Given the description of an element on the screen output the (x, y) to click on. 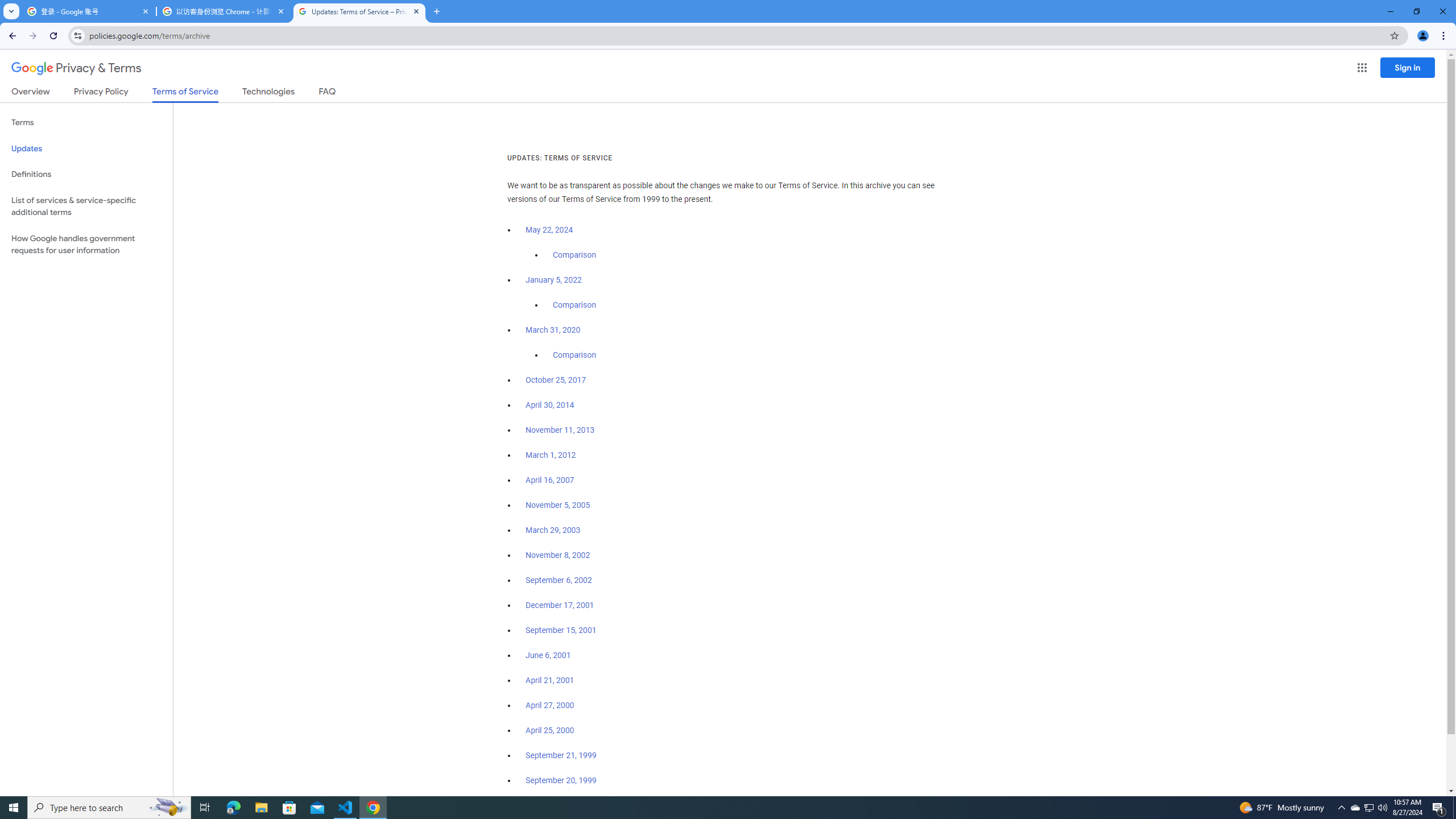
March 31, 2020 (552, 330)
April 21, 2001 (550, 679)
How Google handles government requests for user information (86, 244)
September 20, 1999 (560, 780)
November 8, 2002 (557, 555)
Comparison (574, 355)
September 6, 2002 (558, 579)
April 16, 2007 (550, 480)
